Given the description of an element on the screen output the (x, y) to click on. 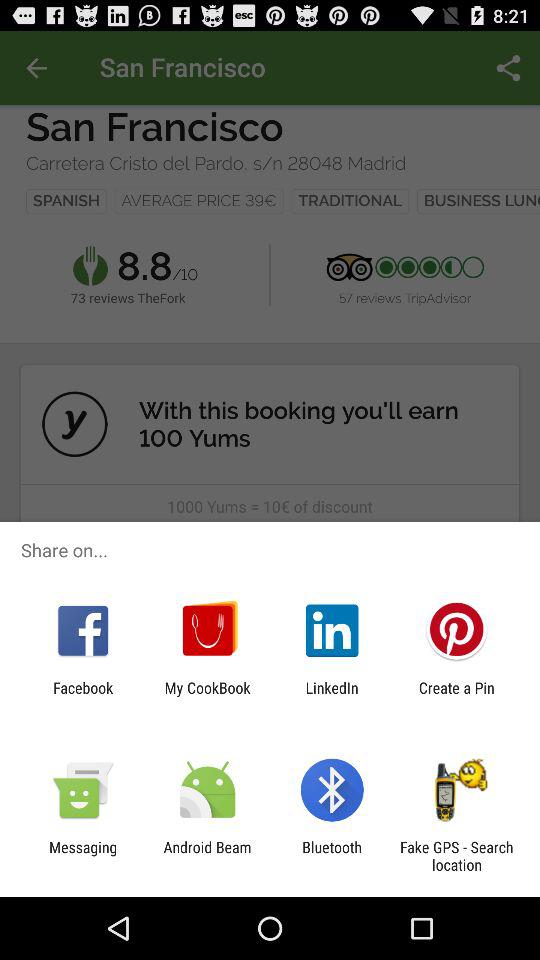
turn on icon next to the my cookbook icon (83, 696)
